Given the description of an element on the screen output the (x, y) to click on. 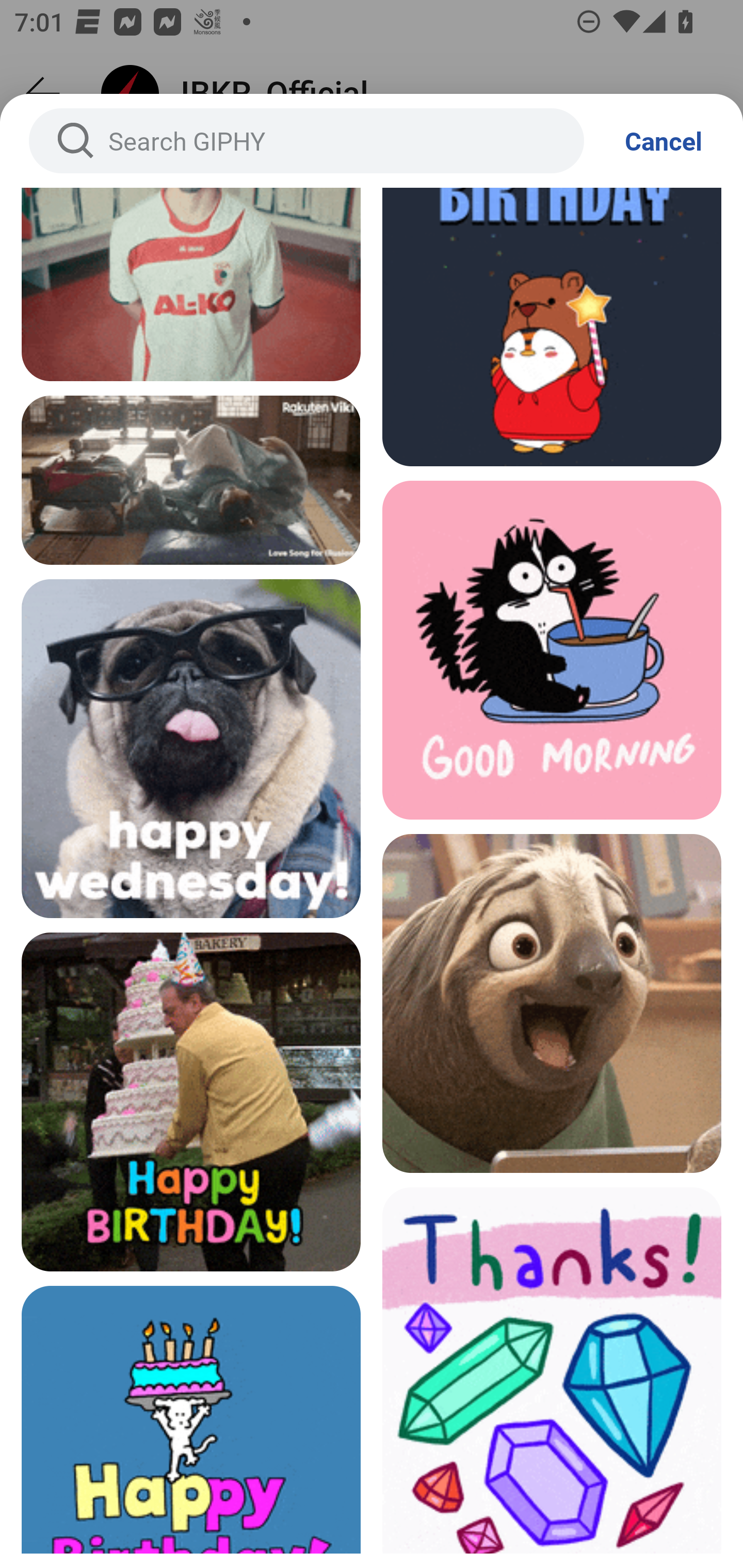
Search GIPHY (305, 141)
Cancel (663, 141)
Gif (190, 284)
Gif (551, 326)
Gif (190, 479)
Gif (551, 650)
Gif (190, 748)
Gif (551, 1003)
Gif (190, 1101)
Gif (551, 1369)
Gif (190, 1419)
